Given the description of an element on the screen output the (x, y) to click on. 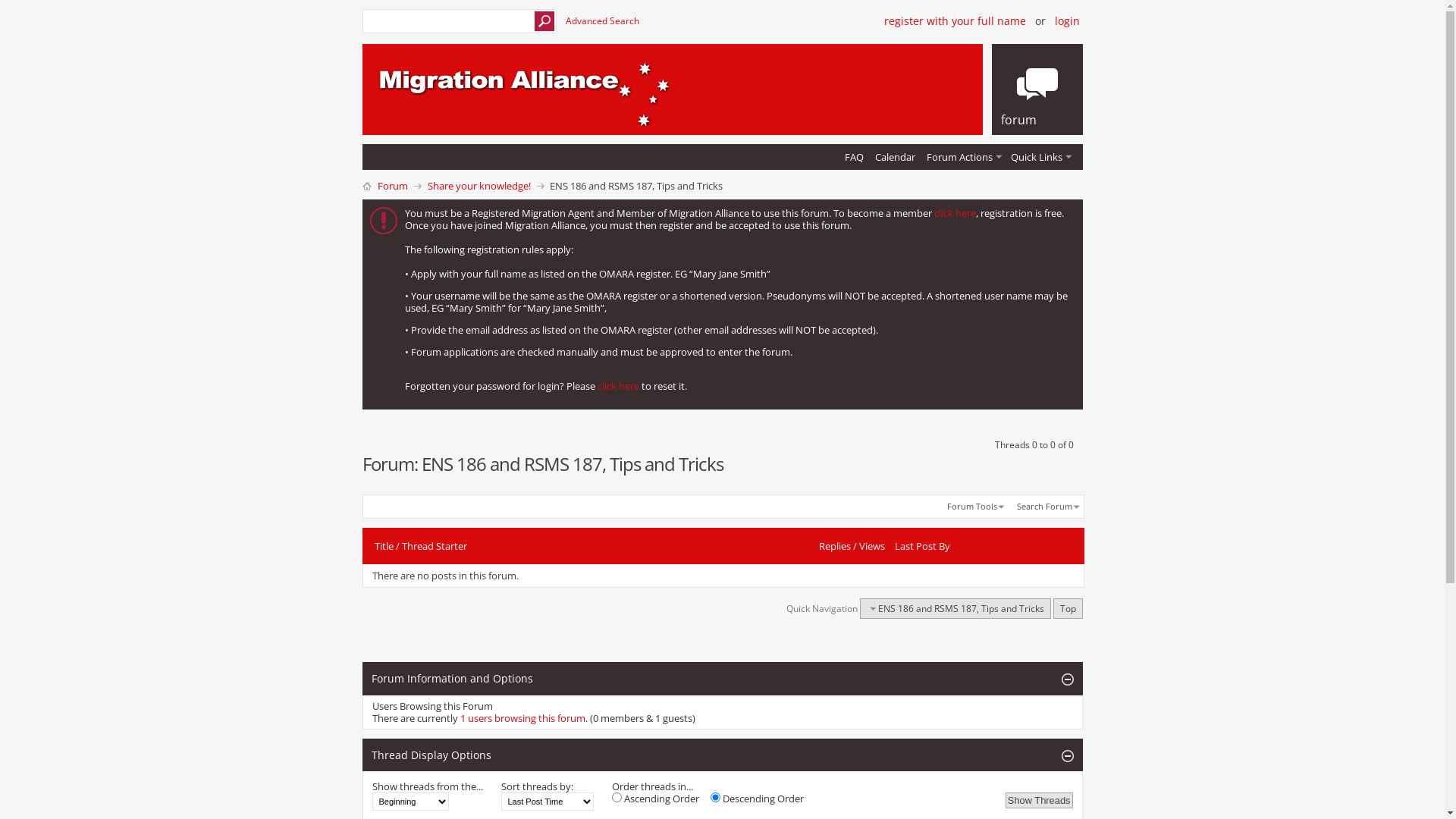
Views Element type: text (871, 545)
Advanced Search Element type: text (602, 20)
Quick Links Element type: text (1039, 157)
register with your full name Element type: text (955, 20)
click here Element type: text (954, 212)
FAQ Element type: text (854, 157)
Search Forum Element type: text (1047, 506)
1 users browsing this forum Element type: text (521, 717)
Calendar Element type: text (894, 157)
Share your knowledge! Element type: text (478, 185)
click here Element type: text (618, 385)
Migration Alliance Forum - Powered by vBulletin Element type: hover (519, 91)
Forum Actions Element type: text (963, 157)
Home Element type: hover (366, 184)
Show Threads Element type: text (1039, 800)
Thread Starter Element type: text (434, 545)
Replies Element type: text (834, 545)
login Element type: text (1066, 20)
forum Element type: text (1036, 88)
ENS 186 and RSMS 187, Tips and Tricks Element type: text (955, 608)
Forum Tools Element type: text (976, 506)
Top Element type: text (1067, 608)
Last Post By Element type: text (922, 545)
Title Element type: text (383, 545)
Forum Element type: text (392, 185)
